Given the description of an element on the screen output the (x, y) to click on. 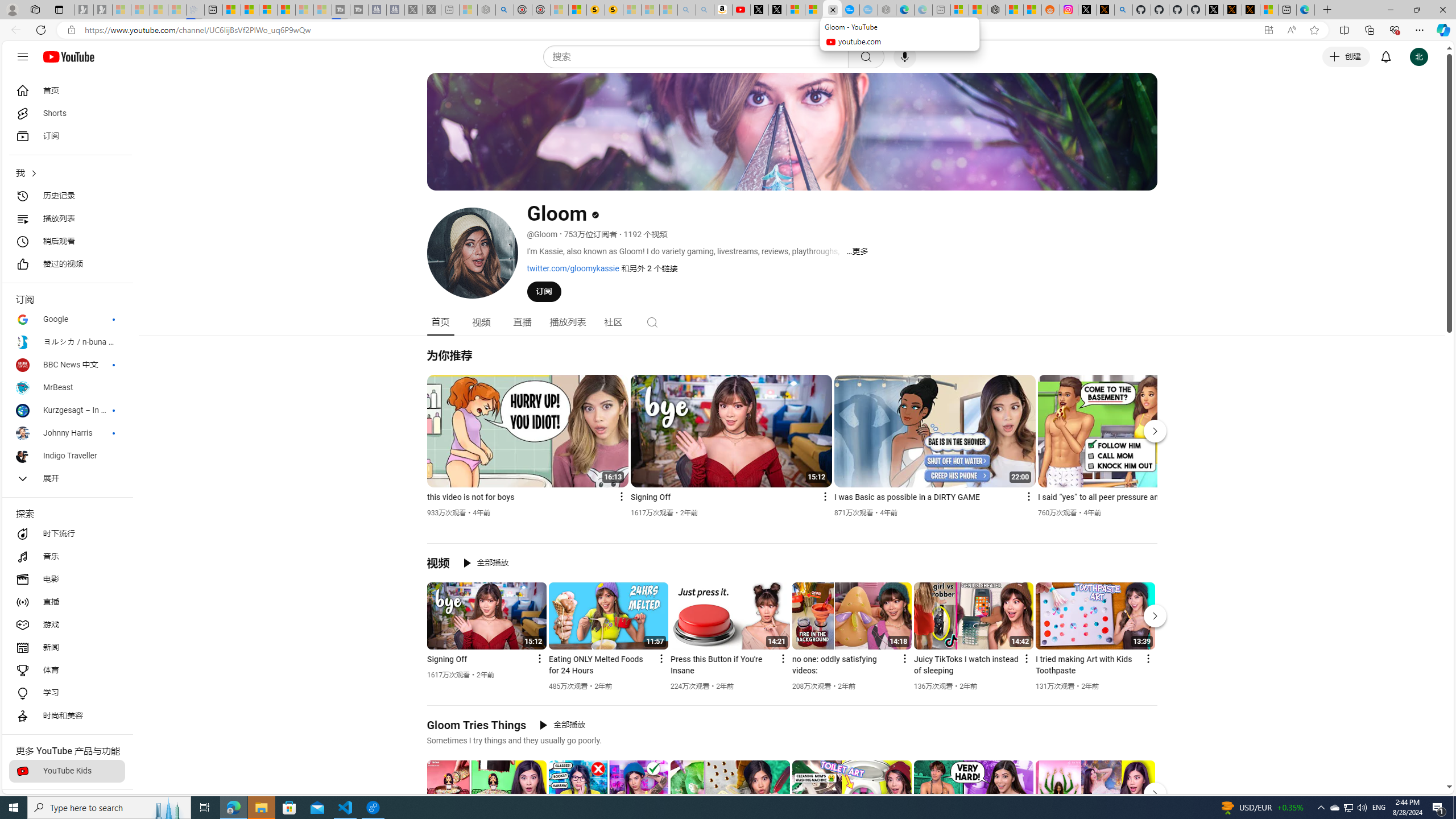
Nordace - Summer Adventures 2024 - Sleeping (486, 9)
Refresh (40, 29)
Opinion: Op-Ed and Commentary - USA TODAY (850, 9)
poe - Search (504, 9)
Nordace - Nordace has arrived Hong Kong - Sleeping (887, 9)
